Given the description of an element on the screen output the (x, y) to click on. 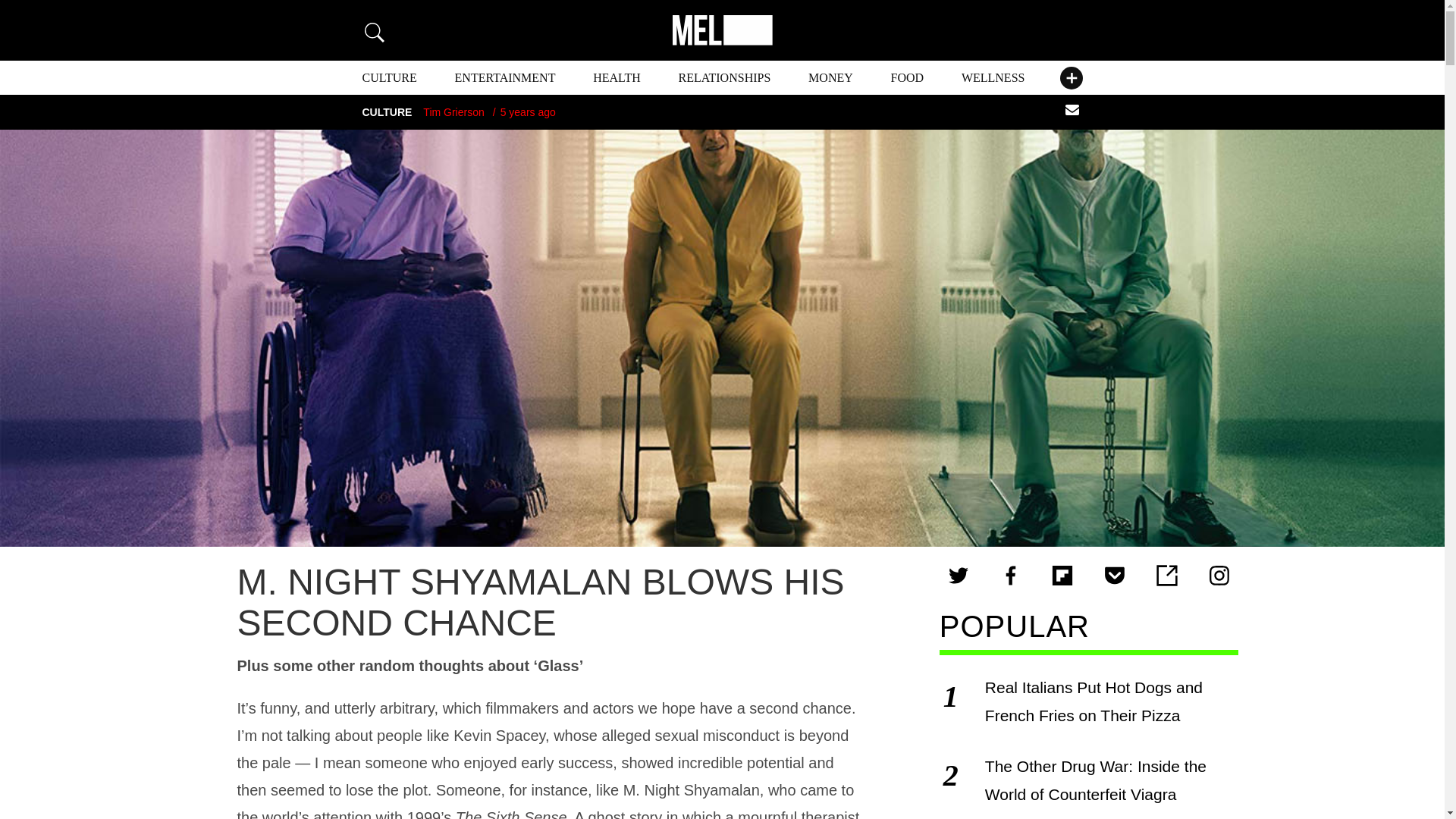
Facebook (1010, 575)
Instagram (1219, 575)
Flipboard (1061, 575)
Twitter (958, 575)
Posts by Tim Grierson (453, 111)
RELATIONSHIPS (724, 77)
Pocket (1114, 575)
CULTURE (389, 77)
FOOD (907, 77)
MONEY (830, 77)
HEALTH (616, 77)
MEL Magazine (721, 30)
Copy Link (1166, 575)
ENTERTAINMENT (505, 77)
WELLNESS (992, 77)
